Given the description of an element on the screen output the (x, y) to click on. 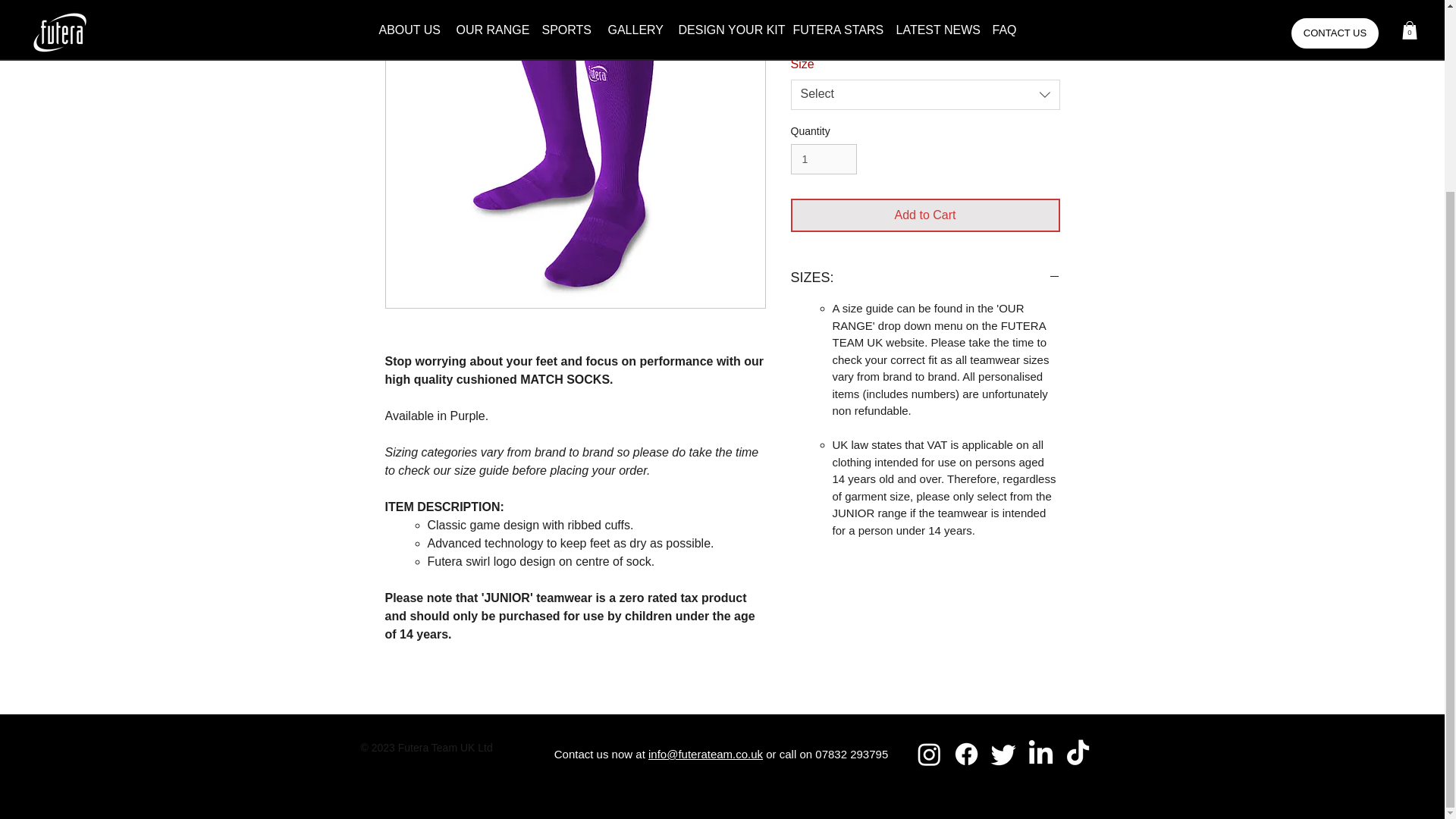
Select (924, 94)
SIZES: (924, 277)
1 (823, 159)
Add to Cart (924, 215)
